Given the description of an element on the screen output the (x, y) to click on. 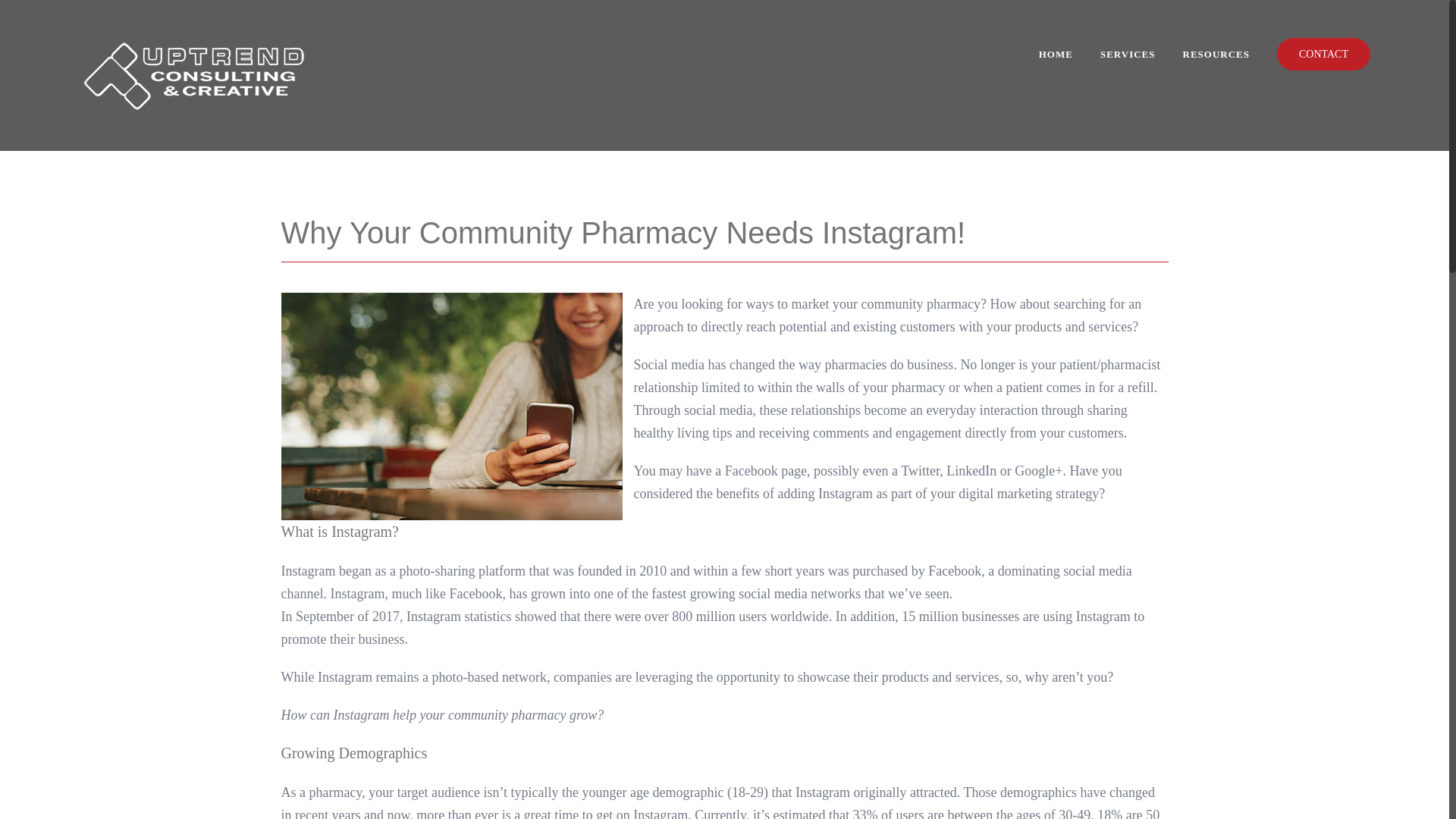
HOME (1056, 53)
CONTACT (1323, 53)
SERVICES (1128, 53)
RESOURCES (1215, 53)
